Given the description of an element on the screen output the (x, y) to click on. 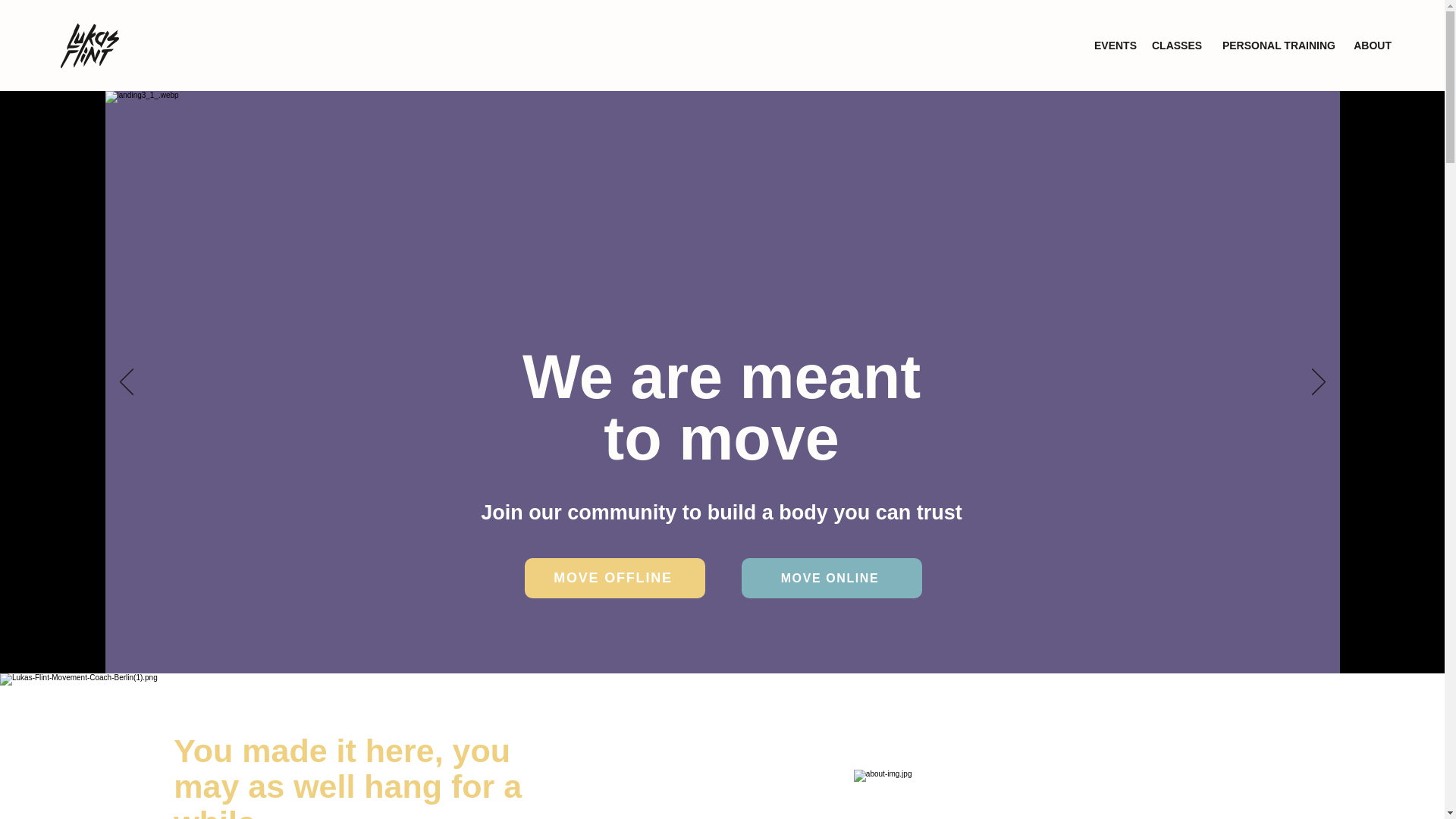
MOVE ONLINE (831, 577)
ABOUT (1370, 45)
MOVE OFFLINE (614, 577)
CLASSES (1176, 45)
PERSONAL TRAINING (1275, 45)
